Given the description of an element on the screen output the (x, y) to click on. 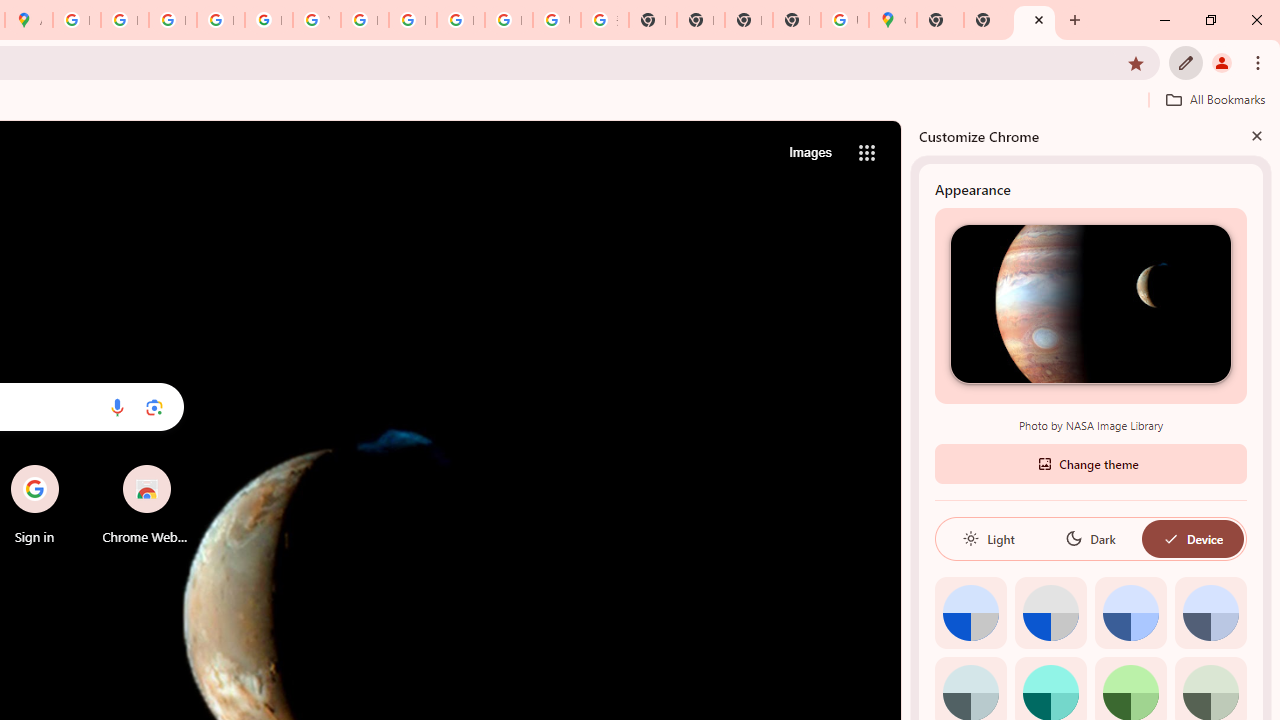
Remove (185, 466)
Grey default color (1050, 612)
AutomationID: baseSvg (1170, 538)
Privacy Help Center - Policies Help (172, 20)
Google Maps (892, 20)
Blue (1130, 612)
New Tab (1034, 20)
Photo by NASA Image Library (1090, 303)
Change theme (1090, 462)
